Given the description of an element on the screen output the (x, y) to click on. 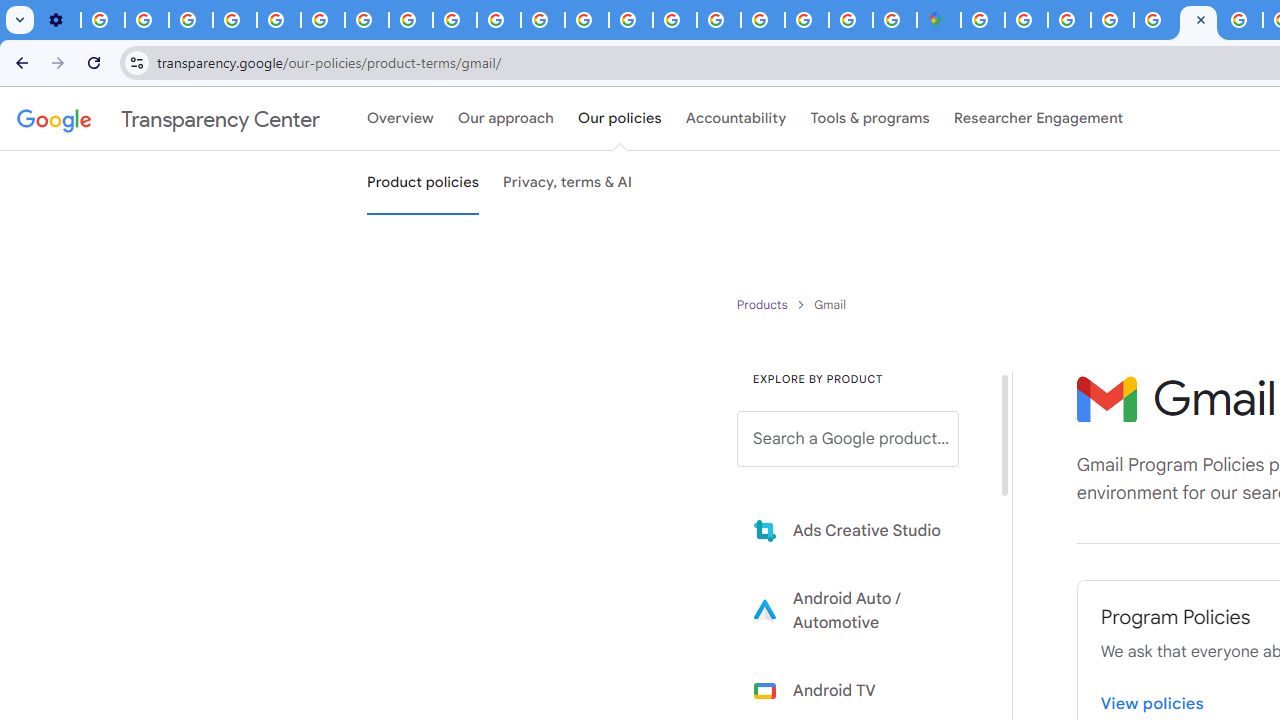
Our approach (506, 119)
YouTube (322, 20)
Settings - Customize profile (58, 20)
Sign in - Google Accounts (982, 20)
Privacy Help Center - Policies Help (586, 20)
Tools & programs (869, 119)
Privacy Checkup (498, 20)
Researcher Engagement (1038, 119)
Privacy, terms & AI (568, 183)
Accountability (735, 119)
